Given the description of an element on the screen output the (x, y) to click on. 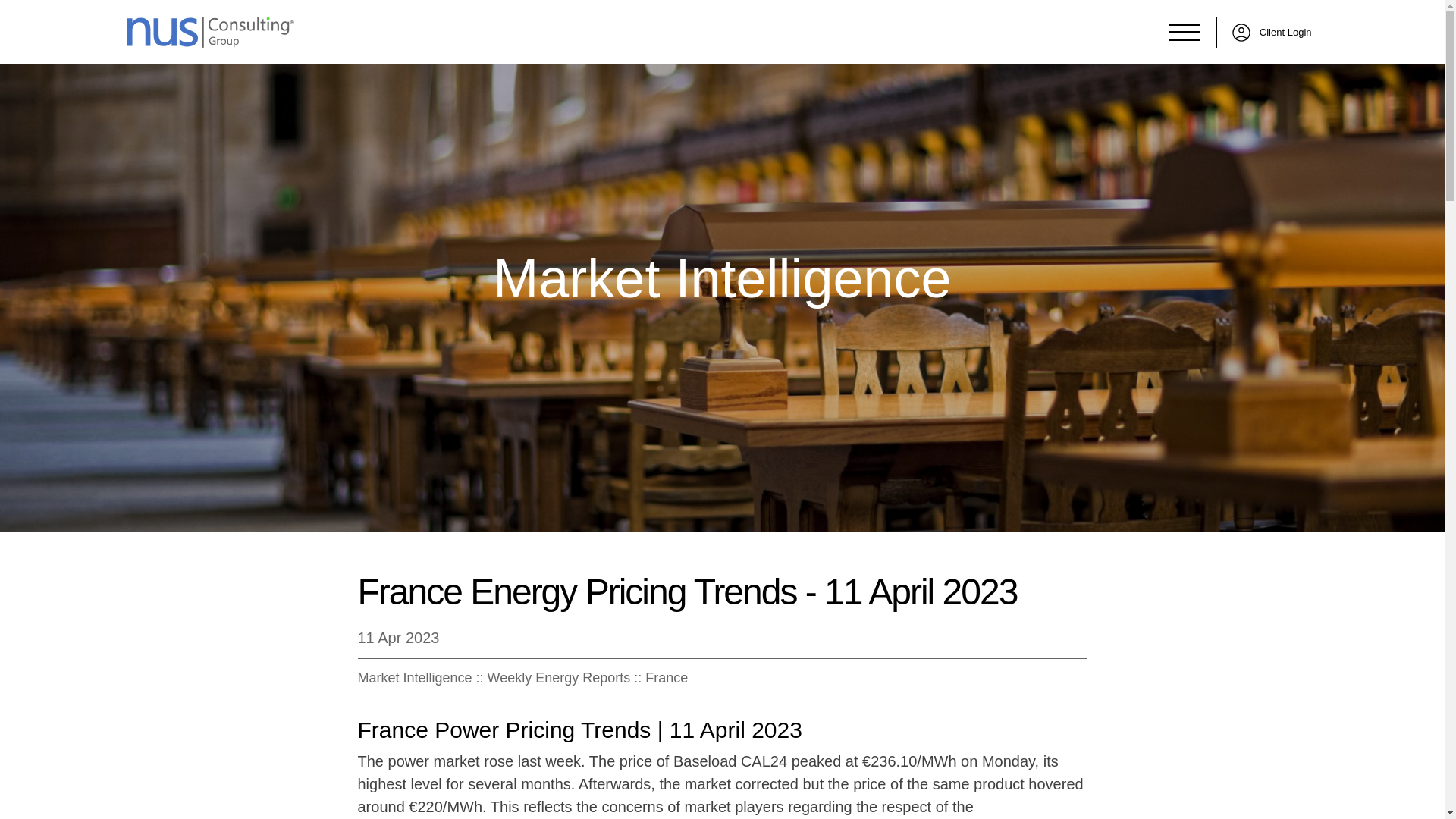
Client Login (1266, 31)
NUS Consulting (211, 32)
Market Intelligence (721, 278)
Client Login (1266, 31)
France (666, 678)
Weekly Energy Reports (558, 678)
Market Intelligence (414, 678)
